Given the description of an element on the screen output the (x, y) to click on. 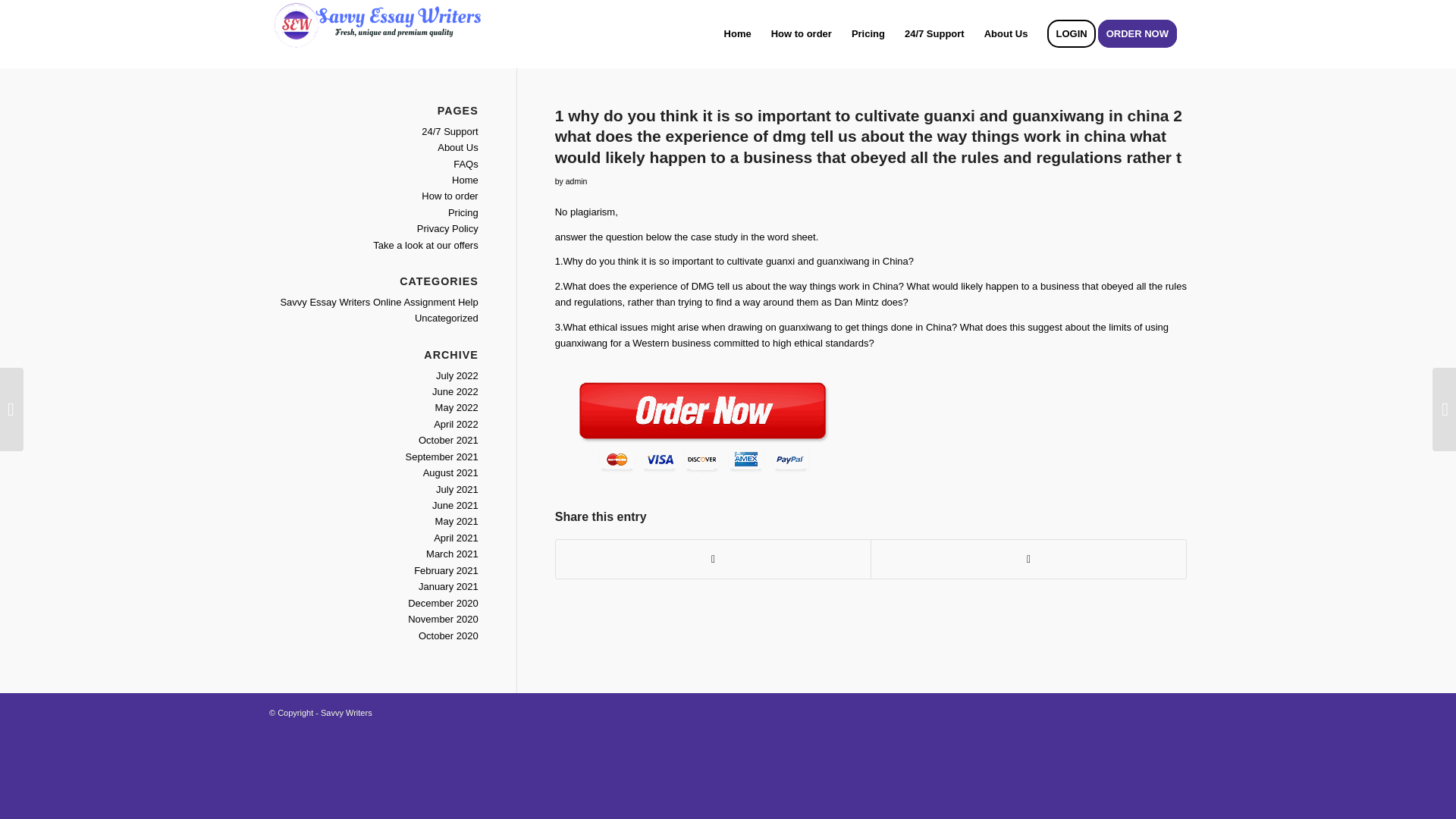
September 2021 (442, 456)
Take a look at our offers (425, 244)
Posts by admin (577, 180)
How to order (449, 195)
March 2021 (452, 553)
ORDER NOW (1141, 33)
July 2021 (457, 489)
December 2020 (443, 603)
January 2021 (449, 586)
February 2021 (446, 570)
October 2021 (449, 439)
May 2022 (457, 407)
admin (577, 180)
How to order (801, 33)
Savvy Essay Writers Online Assignment Help (378, 301)
